Given the description of an element on the screen output the (x, y) to click on. 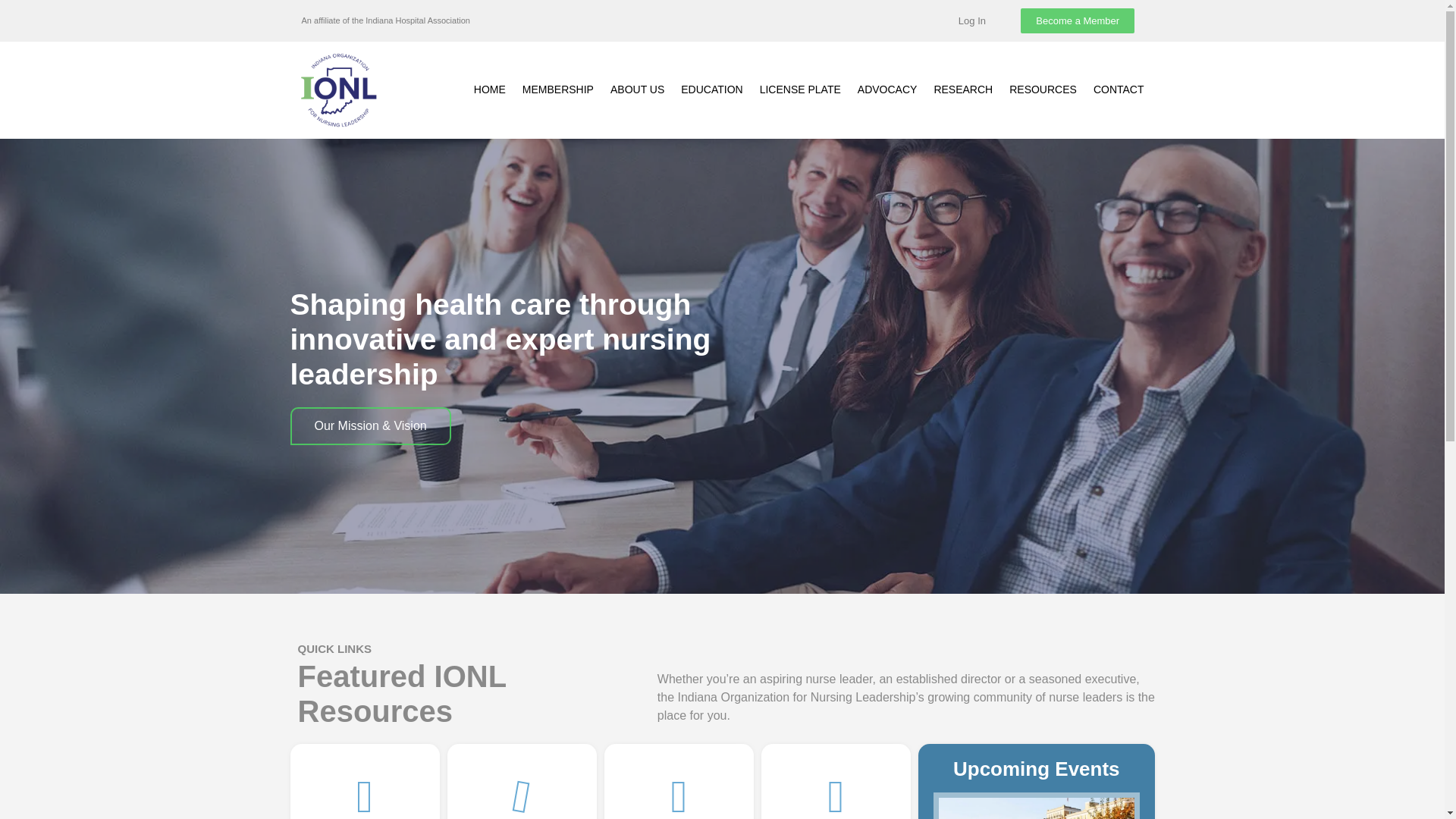
EDUCATION (711, 89)
Log In (972, 20)
RESEARCH (962, 89)
ABOUT US (636, 89)
LICENSE PLATE (800, 89)
ADVOCACY (887, 89)
MEMBERSHIP (557, 89)
RESOURCES (1043, 89)
HOME (489, 89)
CONTACT (1118, 89)
